Given the description of an element on the screen output the (x, y) to click on. 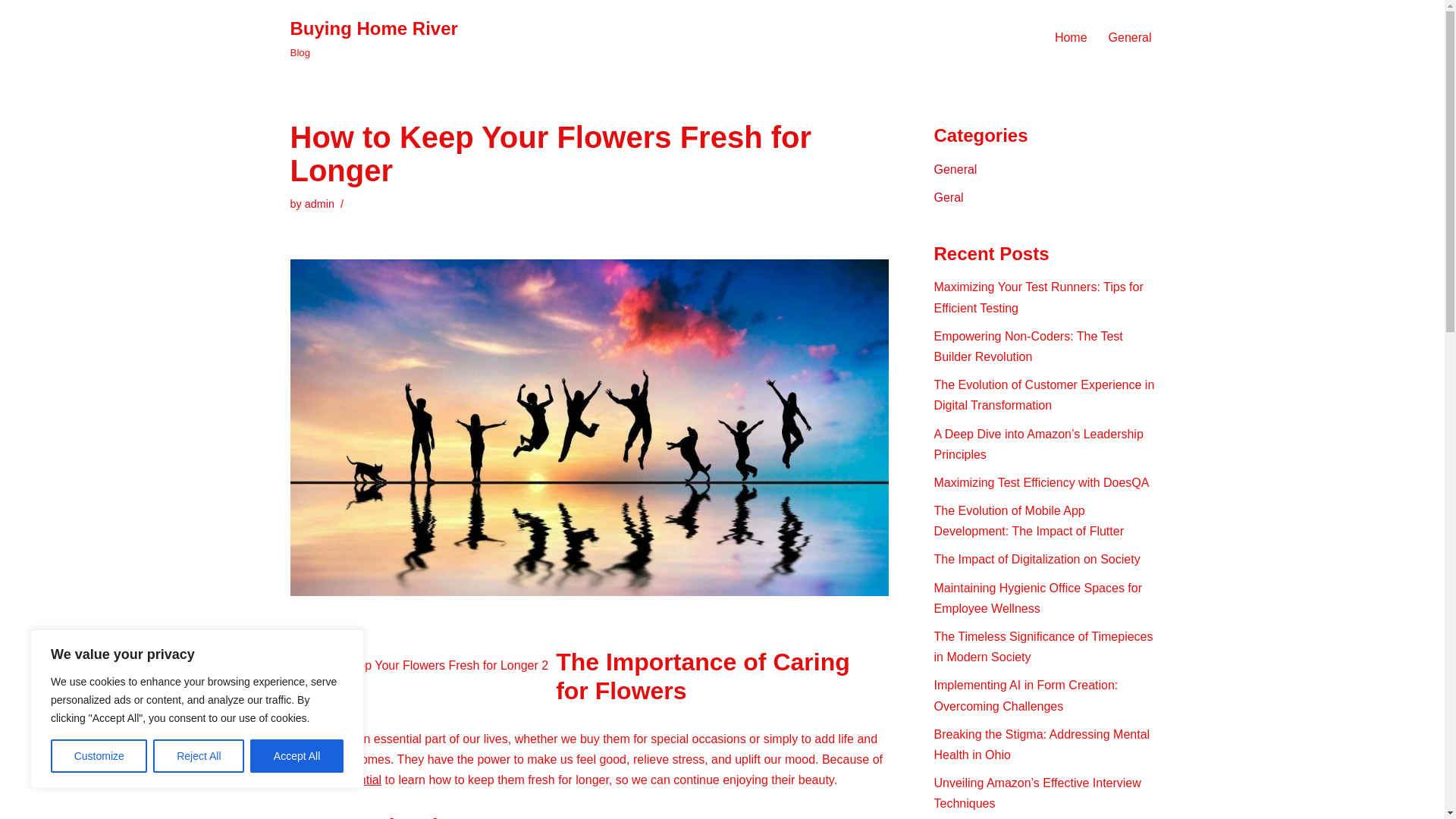
General (955, 169)
The Impact of Digitalization on Society (373, 37)
admin (1037, 558)
Reject All (319, 203)
Posts by admin (198, 756)
Navigation Menu (319, 203)
Geral (1129, 37)
Maximizing Test Efficiency with DoesQA (948, 196)
Empowering Non-Coders: The Test Builder Revolution (1042, 481)
Maximizing Your Test Runners: Tips for Efficient Testing (1028, 346)
Customize (1038, 296)
